Given the description of an element on the screen output the (x, y) to click on. 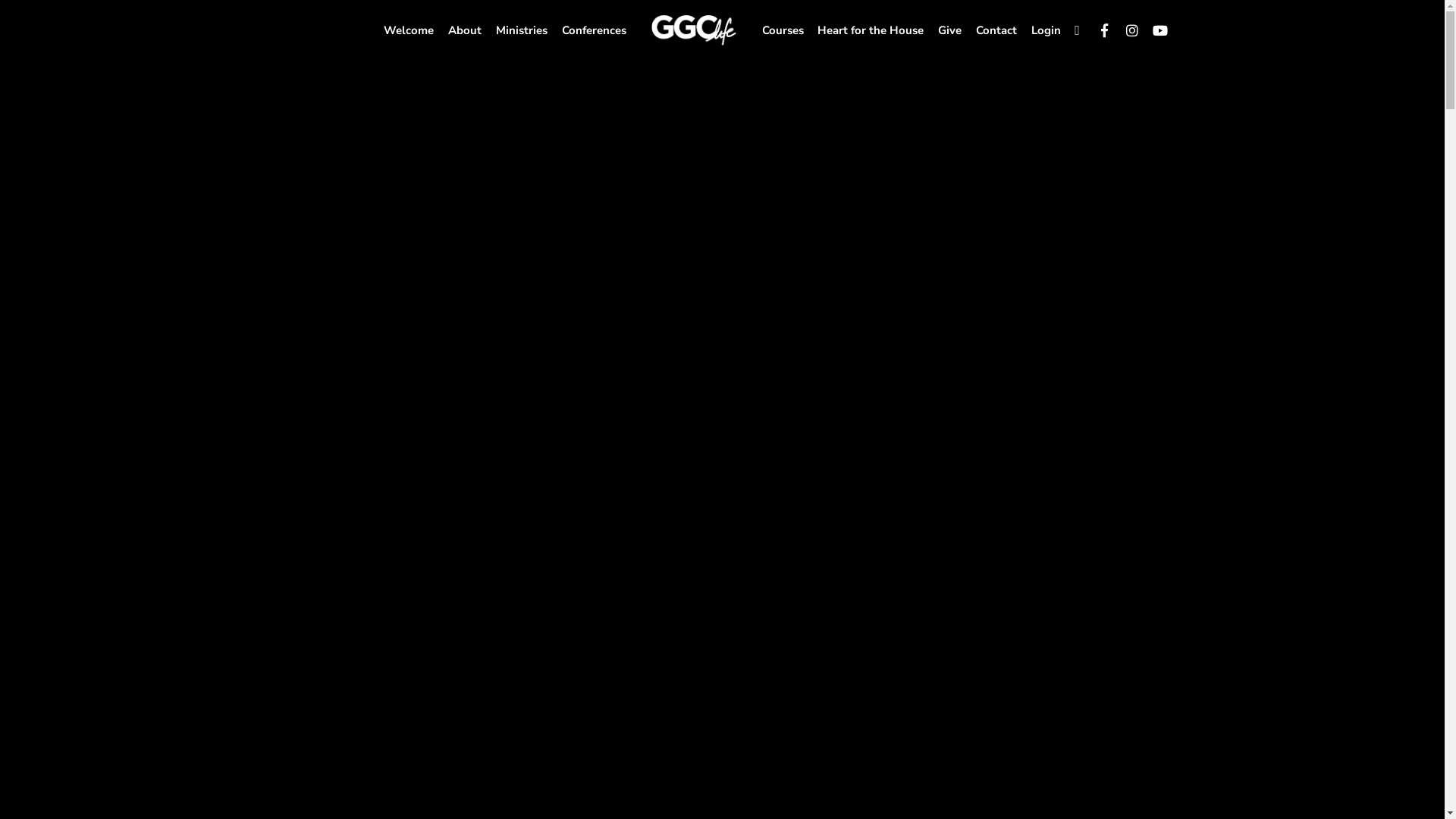
Heart for the House Element type: text (870, 30)
Courses Element type: text (782, 30)
Contact Element type: text (995, 30)
Welcome Element type: text (408, 30)
Ministries Element type: text (521, 30)
Login Element type: text (1045, 30)
About Element type: text (465, 30)
Conferences Element type: text (593, 30)
Give Element type: text (949, 30)
